Given the description of an element on the screen output the (x, y) to click on. 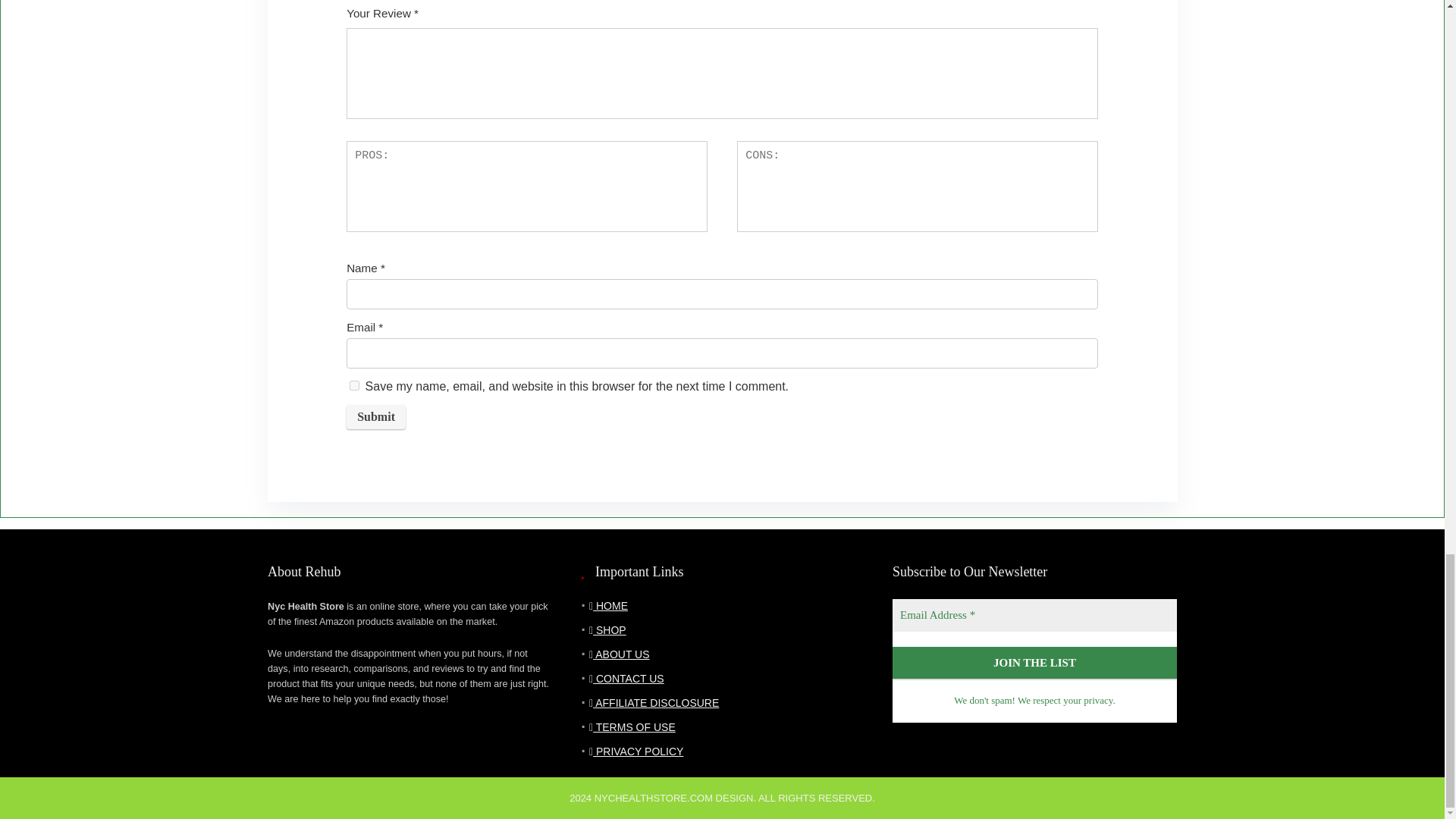
Email Address (1034, 614)
yes (354, 385)
Submit (376, 416)
JOIN THE LIST (1034, 663)
